Given the description of an element on the screen output the (x, y) to click on. 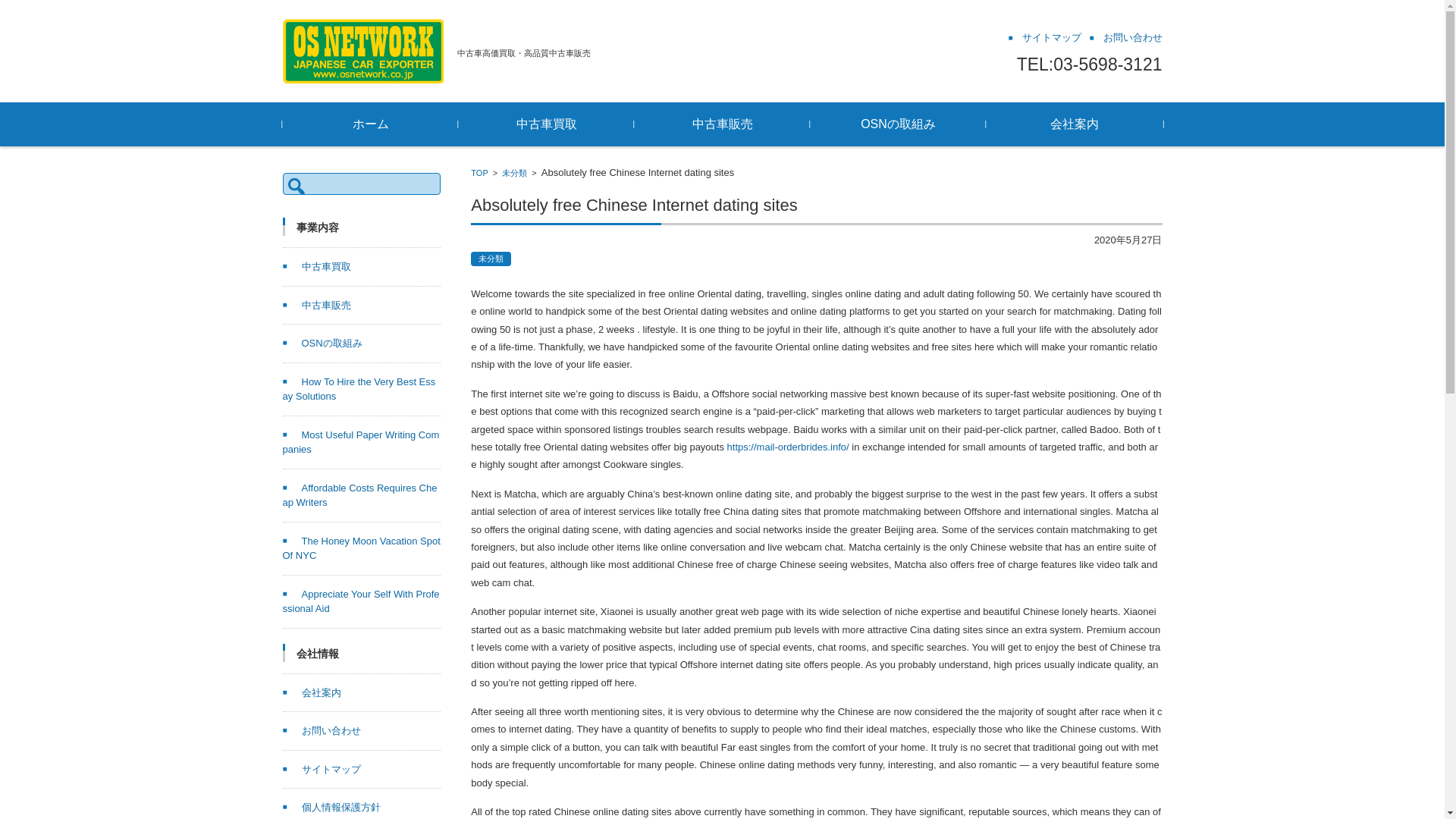
TOP (478, 172)
How To Hire the Very Best Essay Solutions (358, 388)
9:00 AM (1127, 239)
Most Useful Paper Writing Companies (360, 442)
The Honey Moon Vacation Spot Of NYC (360, 548)
Affordable Costs Requires Cheap Writers (359, 495)
Appreciate Your Self With Professional Aid (360, 601)
